Given the description of an element on the screen output the (x, y) to click on. 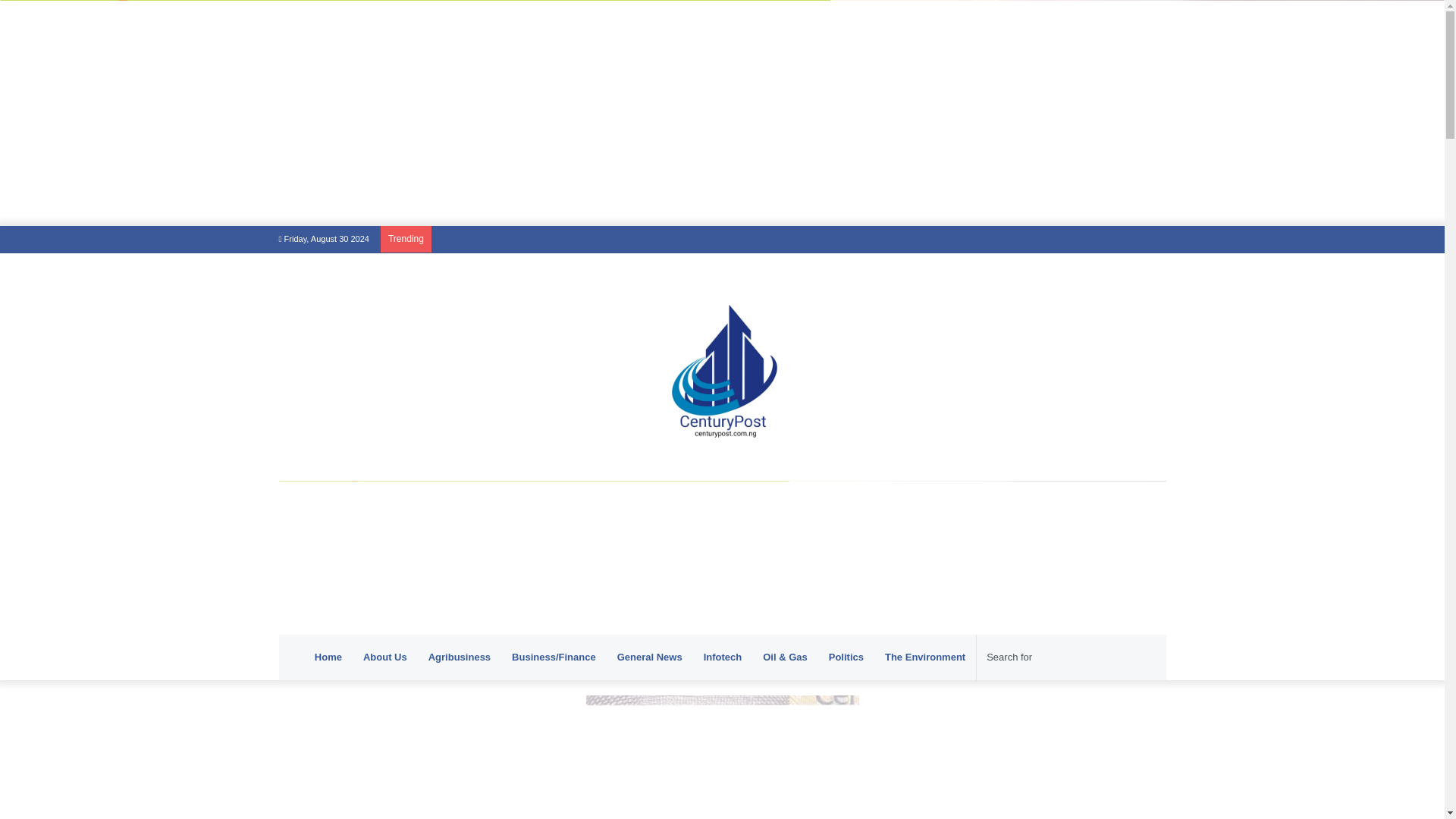
About Us (384, 657)
The Environment (925, 657)
Century Post (722, 366)
Home (328, 657)
Accessbank Ad (722, 549)
Infotech (722, 657)
Politics (846, 657)
General News (650, 657)
Agribusiness (458, 657)
Search for (1058, 657)
